Given the description of an element on the screen output the (x, y) to click on. 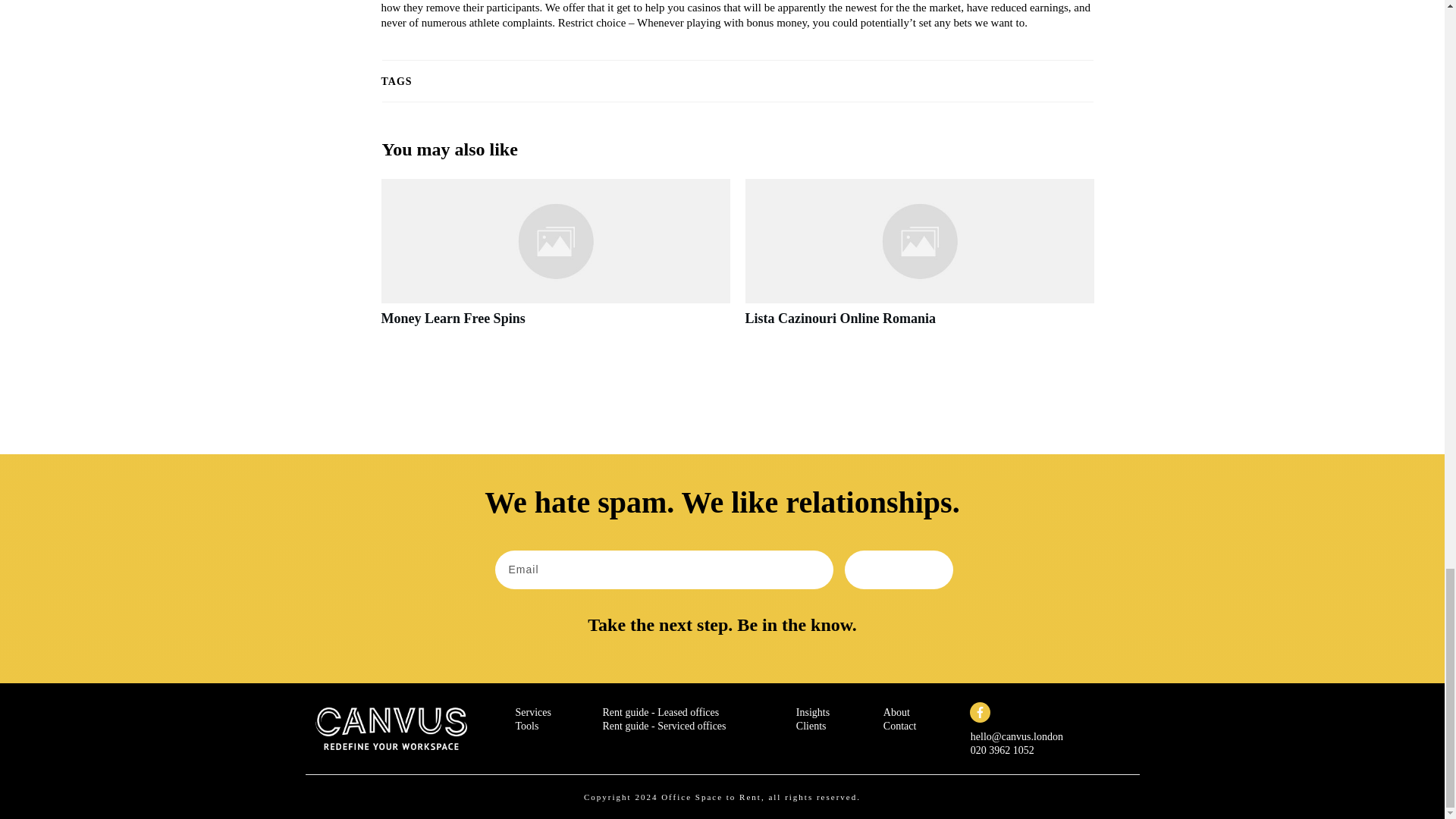
Subscribe (898, 569)
Lista Cazinouri Online Romania (840, 318)
Insights (812, 712)
Tools (526, 726)
Services (533, 712)
Money Learn Free Spins (452, 318)
Clients (811, 726)
Lista Cazinouri Online Romania (918, 261)
Rent guide - Leased offices (660, 712)
Money Learn Free Spins (452, 318)
Rent guide - Serviced offices (663, 726)
Lista Cazinouri Online Romania (840, 318)
Money Learn Free Spins (554, 261)
About (896, 712)
canvus logo (391, 728)
